Given the description of an element on the screen output the (x, y) to click on. 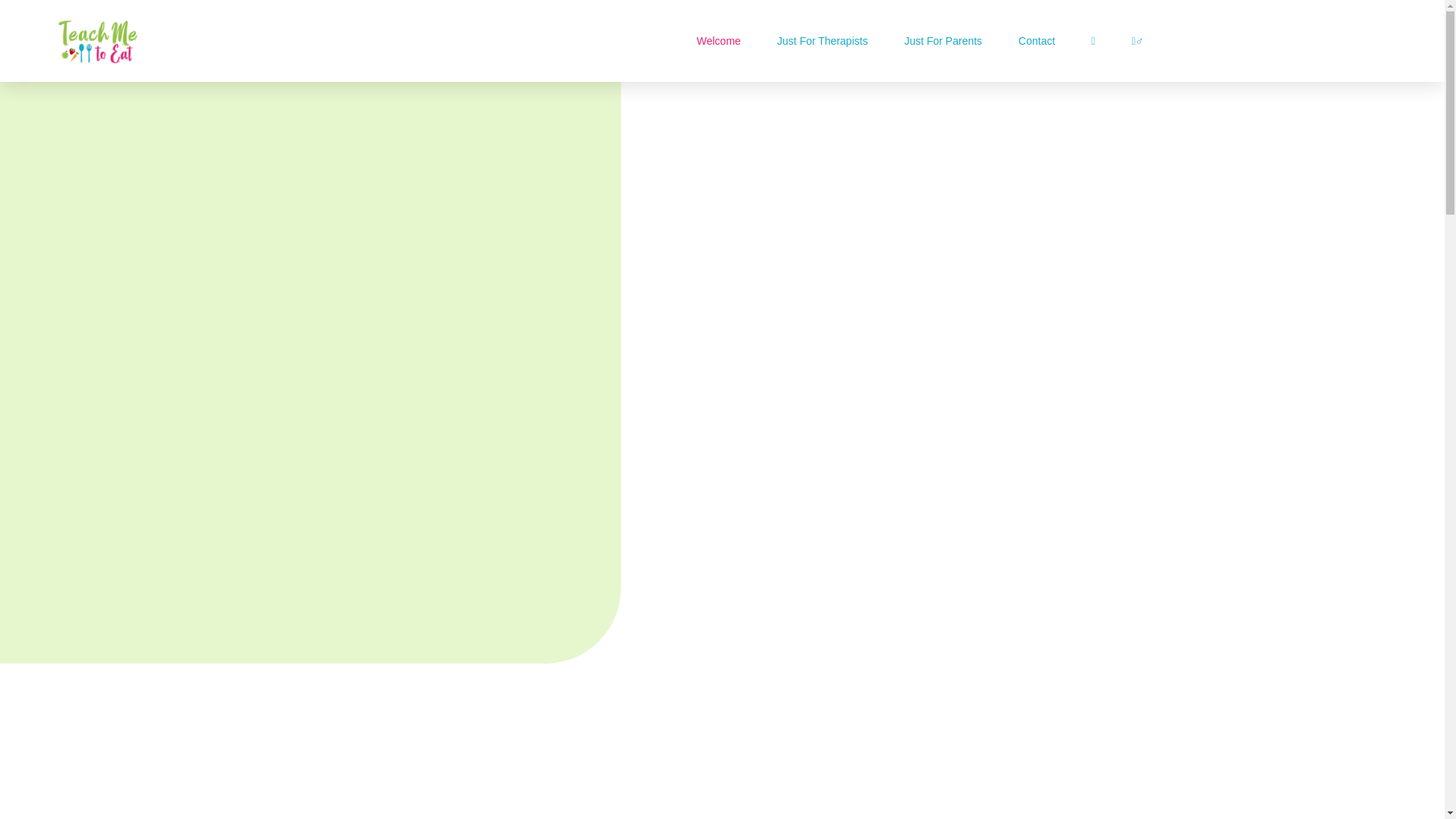
Welcome (719, 40)
Contact (1035, 40)
Just For Parents (942, 40)
Just For Therapists (822, 40)
